Given the description of an element on the screen output the (x, y) to click on. 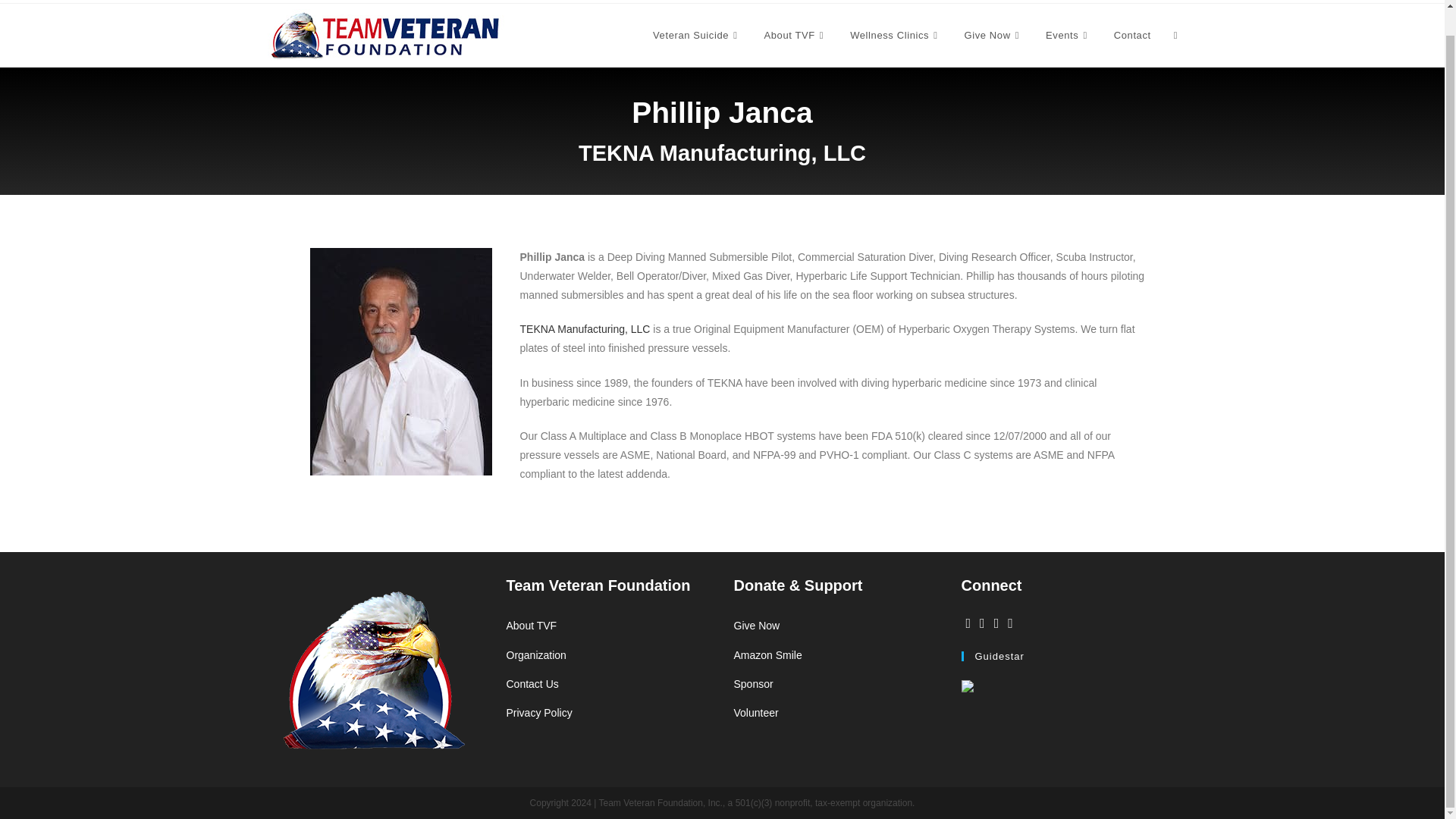
Events (1067, 35)
Give Now (994, 35)
About TVF (795, 35)
Veteran Suicide (697, 35)
Wellness Clinics (895, 35)
Contact (1131, 35)
